Given the description of an element on the screen output the (x, y) to click on. 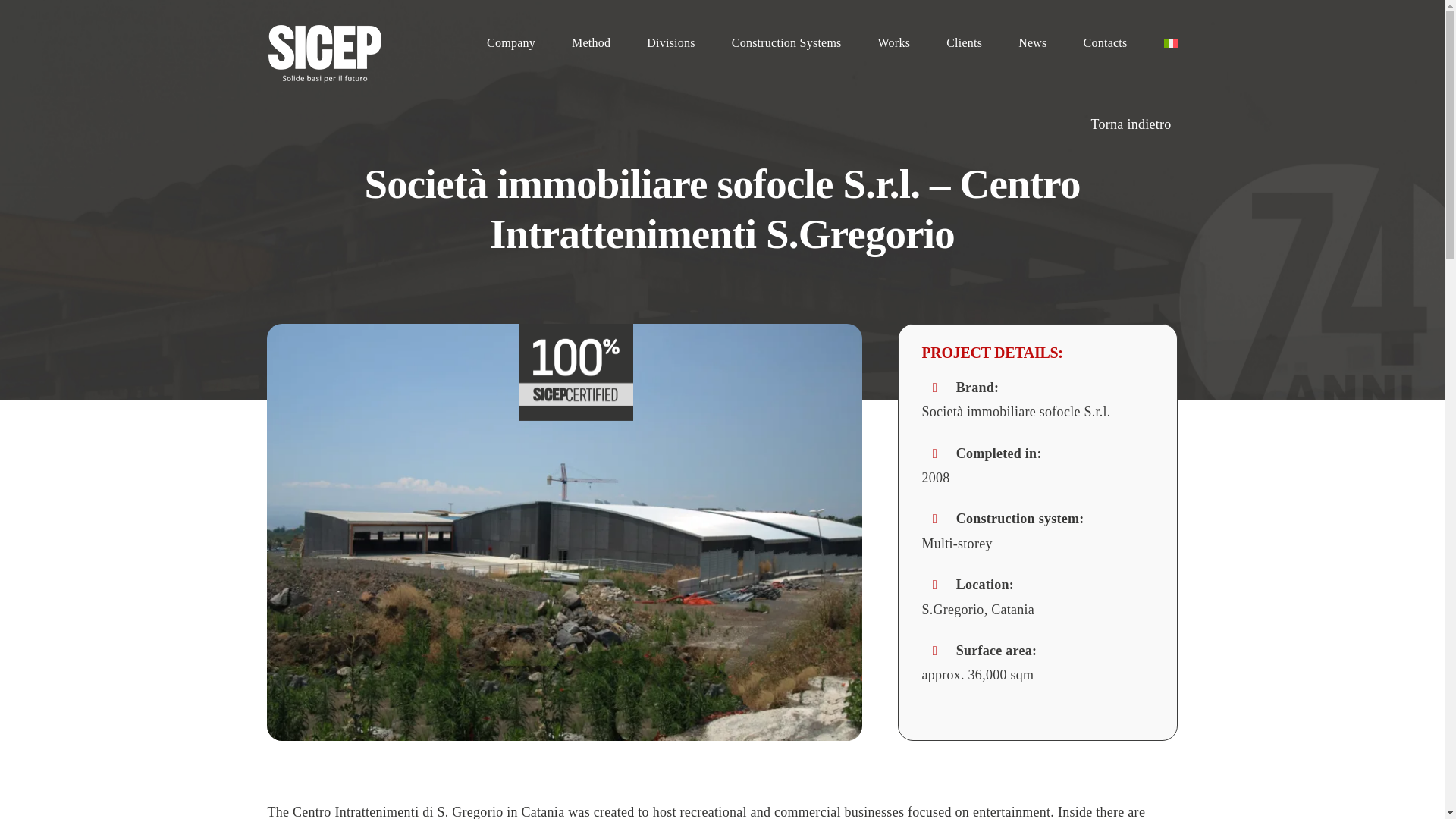
News (1031, 43)
Contacts (1104, 43)
Method (591, 43)
Clients (963, 43)
Construction Systems (786, 43)
Works (894, 43)
Divisions (670, 43)
Company (510, 43)
